Given the description of an element on the screen output the (x, y) to click on. 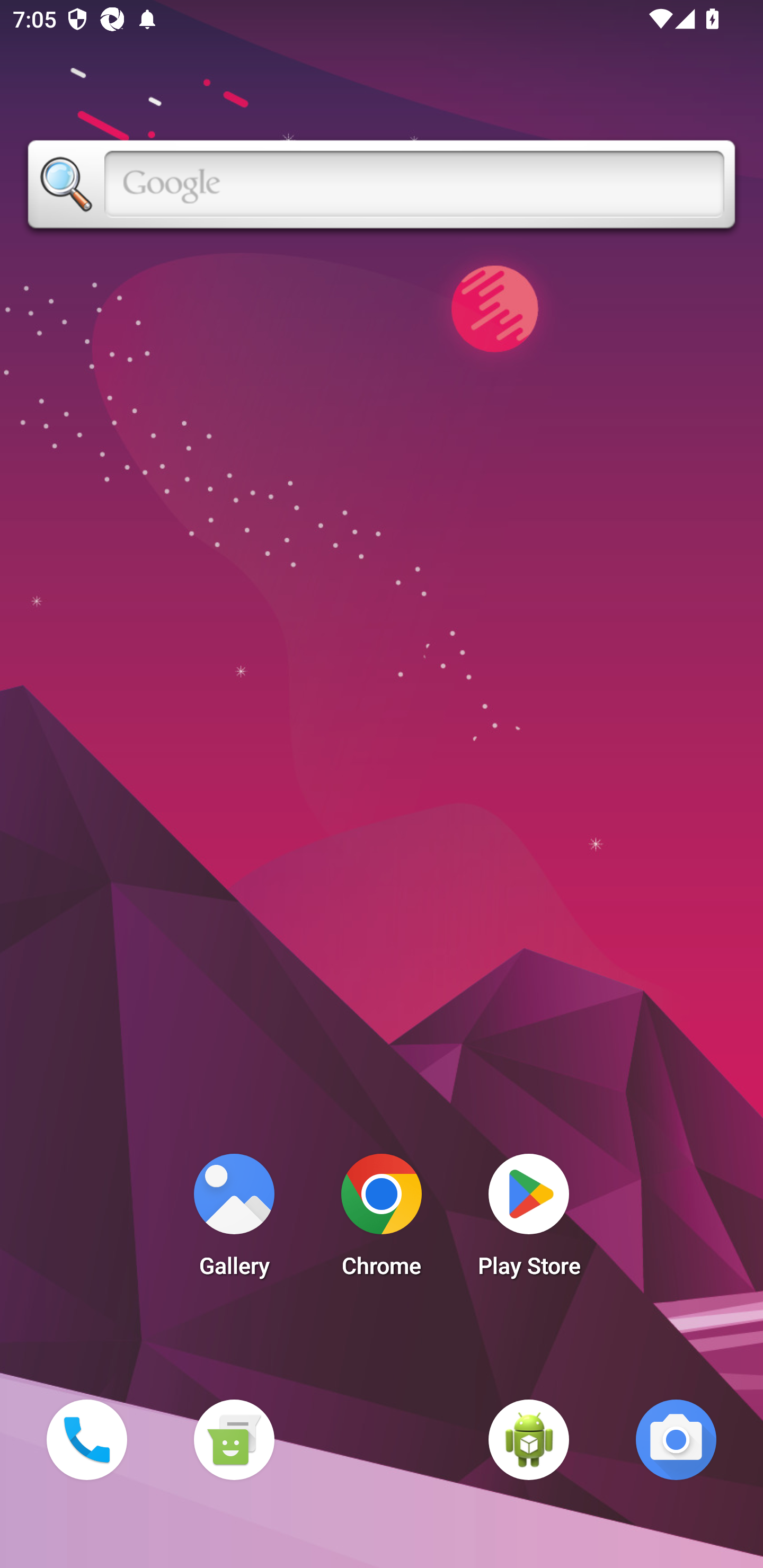
Gallery (233, 1220)
Chrome (381, 1220)
Play Store (528, 1220)
Phone (86, 1439)
Messaging (233, 1439)
WebView Browser Tester (528, 1439)
Camera (676, 1439)
